Given the description of an element on the screen output the (x, y) to click on. 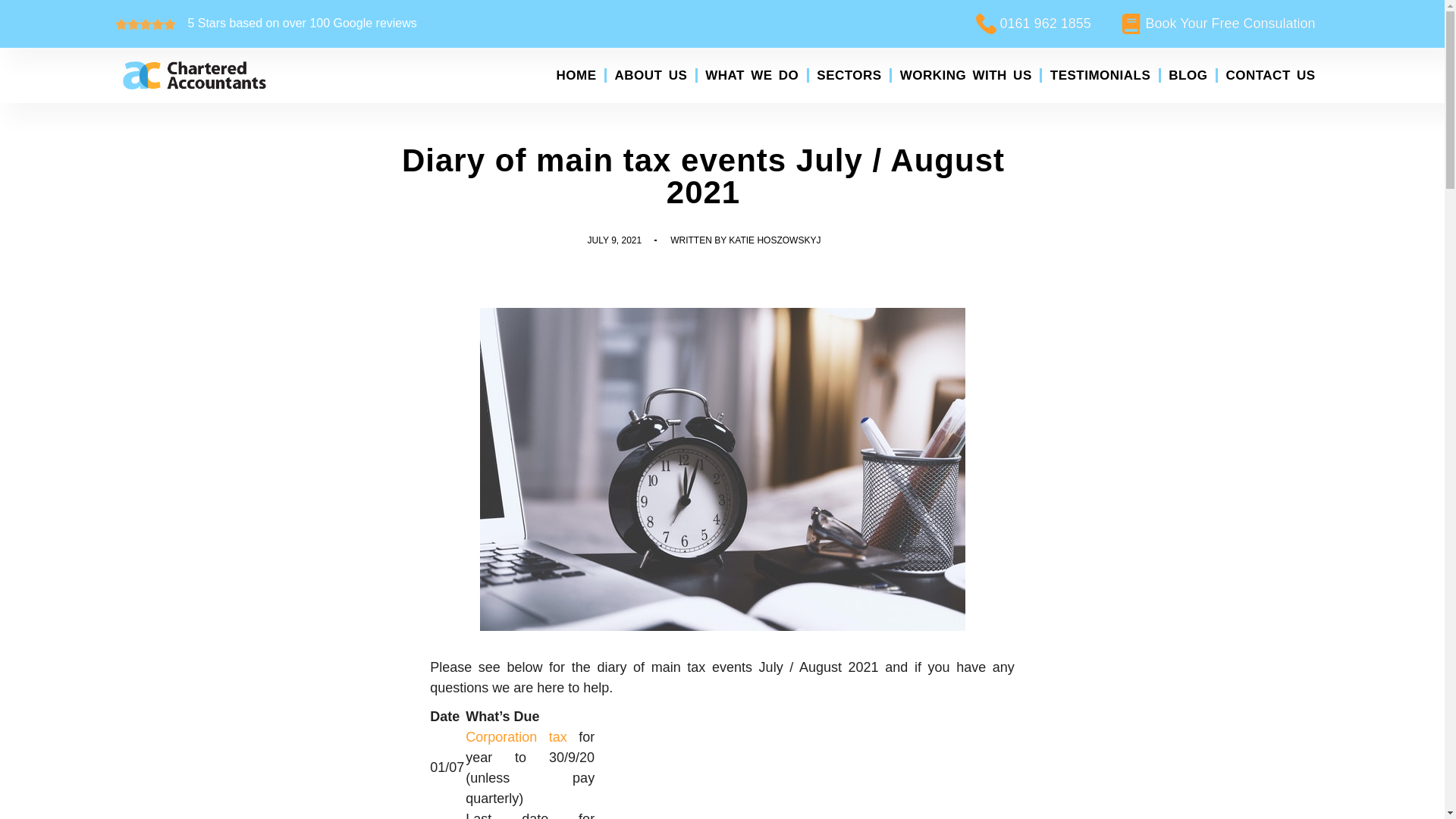
WHAT WE DO (751, 75)
WORKING WITH US (965, 75)
TESTIMONIALS (1100, 75)
BLOG (1186, 75)
CONTACT US (1270, 75)
0161 962 1855 (1030, 23)
HOME (576, 75)
SECTORS (848, 75)
